Given the description of an element on the screen output the (x, y) to click on. 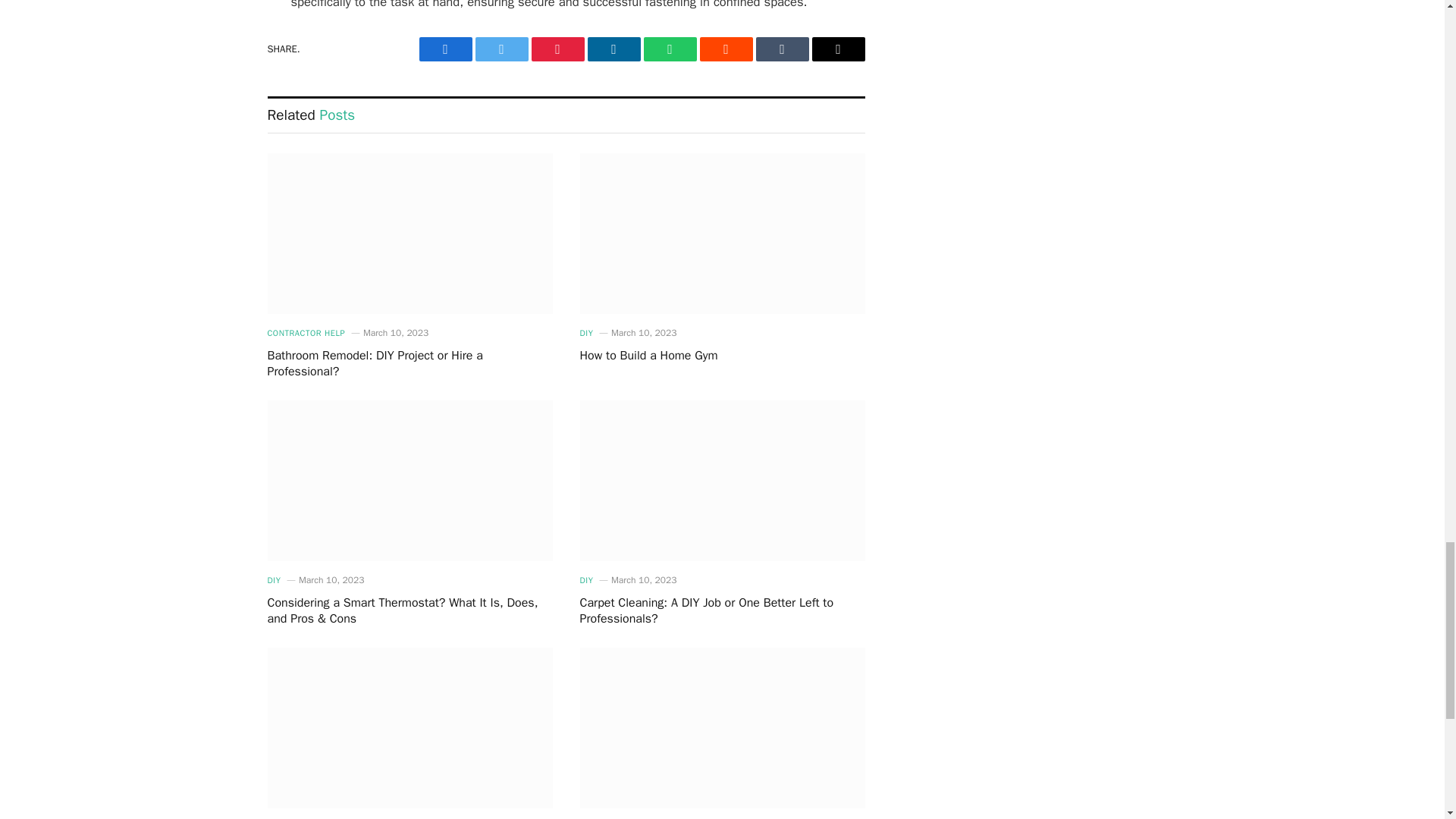
Pinterest (557, 48)
WhatsApp (669, 48)
Twitter (500, 48)
Facebook (445, 48)
Reddit (725, 48)
Tumblr (781, 48)
LinkedIn (613, 48)
